Given the description of an element on the screen output the (x, y) to click on. 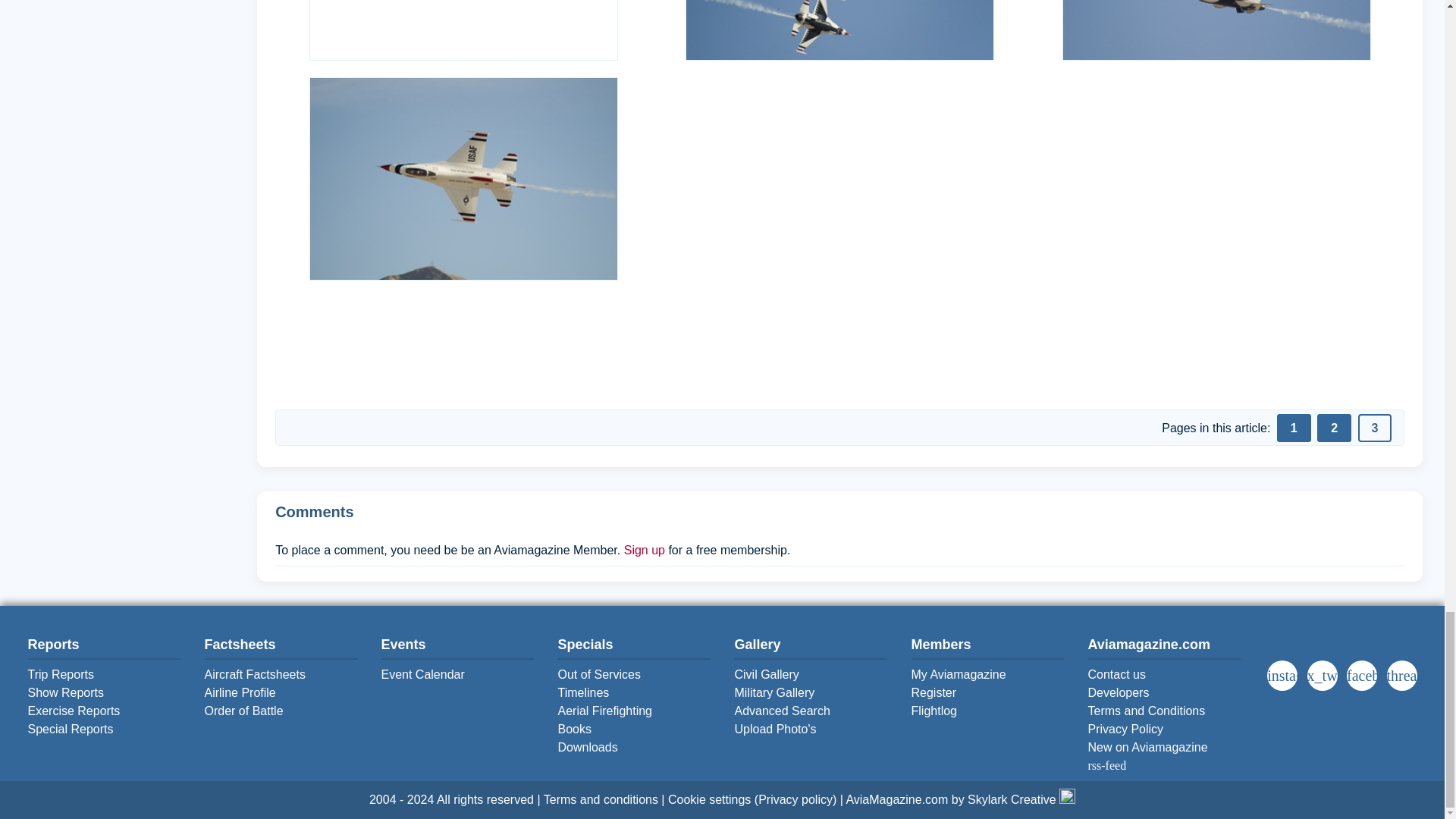
Page 3 (1374, 428)
follow us on X (1325, 674)
Page 1 (1293, 428)
Page 2 (1334, 428)
follow us on Threads (1404, 674)
follow us on Facebook (1364, 674)
Follow us on Instragram (1284, 674)
RSS news feed (1147, 756)
